Given the description of an element on the screen output the (x, y) to click on. 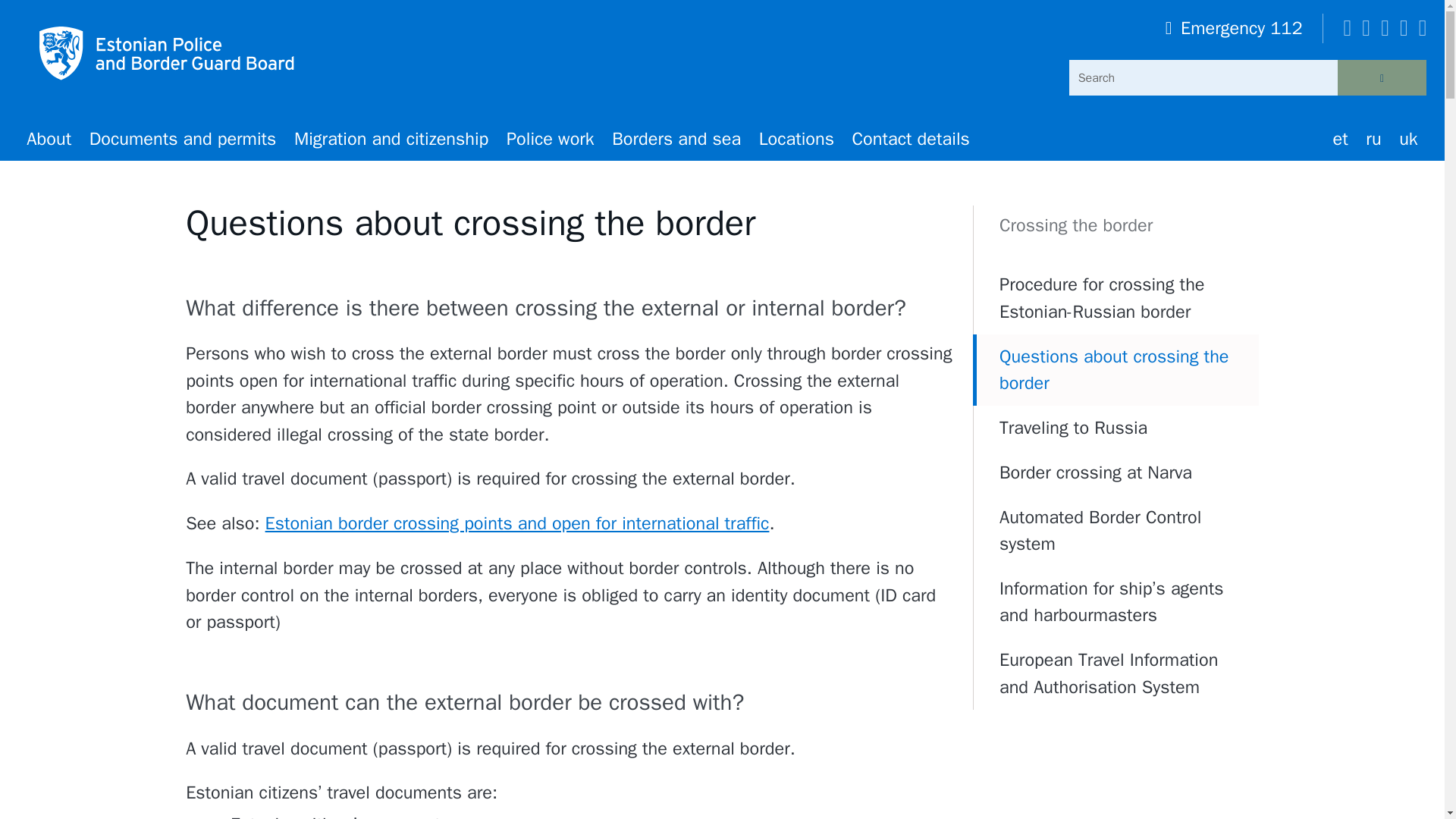
Documents and permits (182, 139)
About (48, 139)
